Given the description of an element on the screen output the (x, y) to click on. 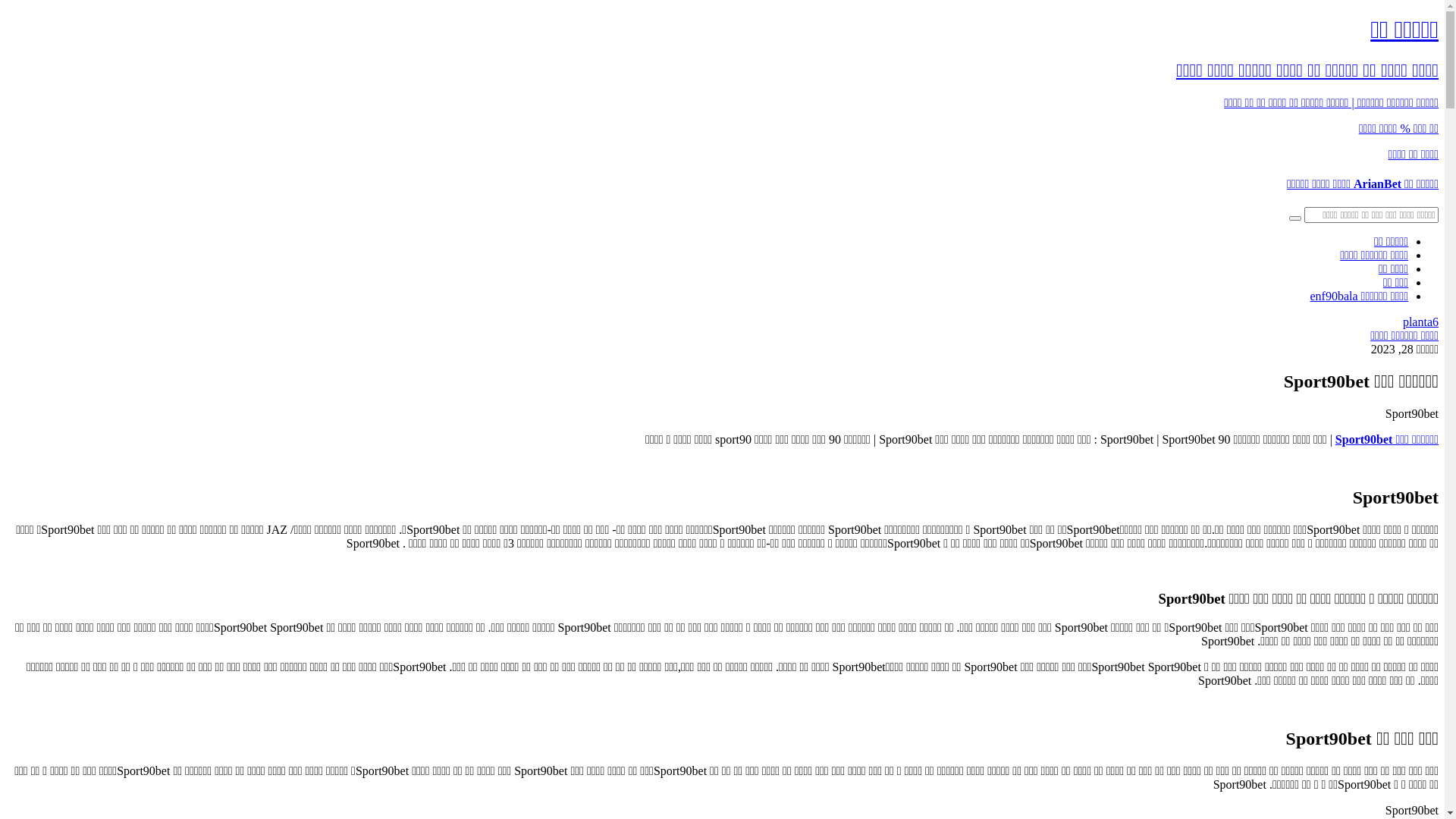
planta6 Element type: text (1420, 321)
